Given the description of an element on the screen output the (x, y) to click on. 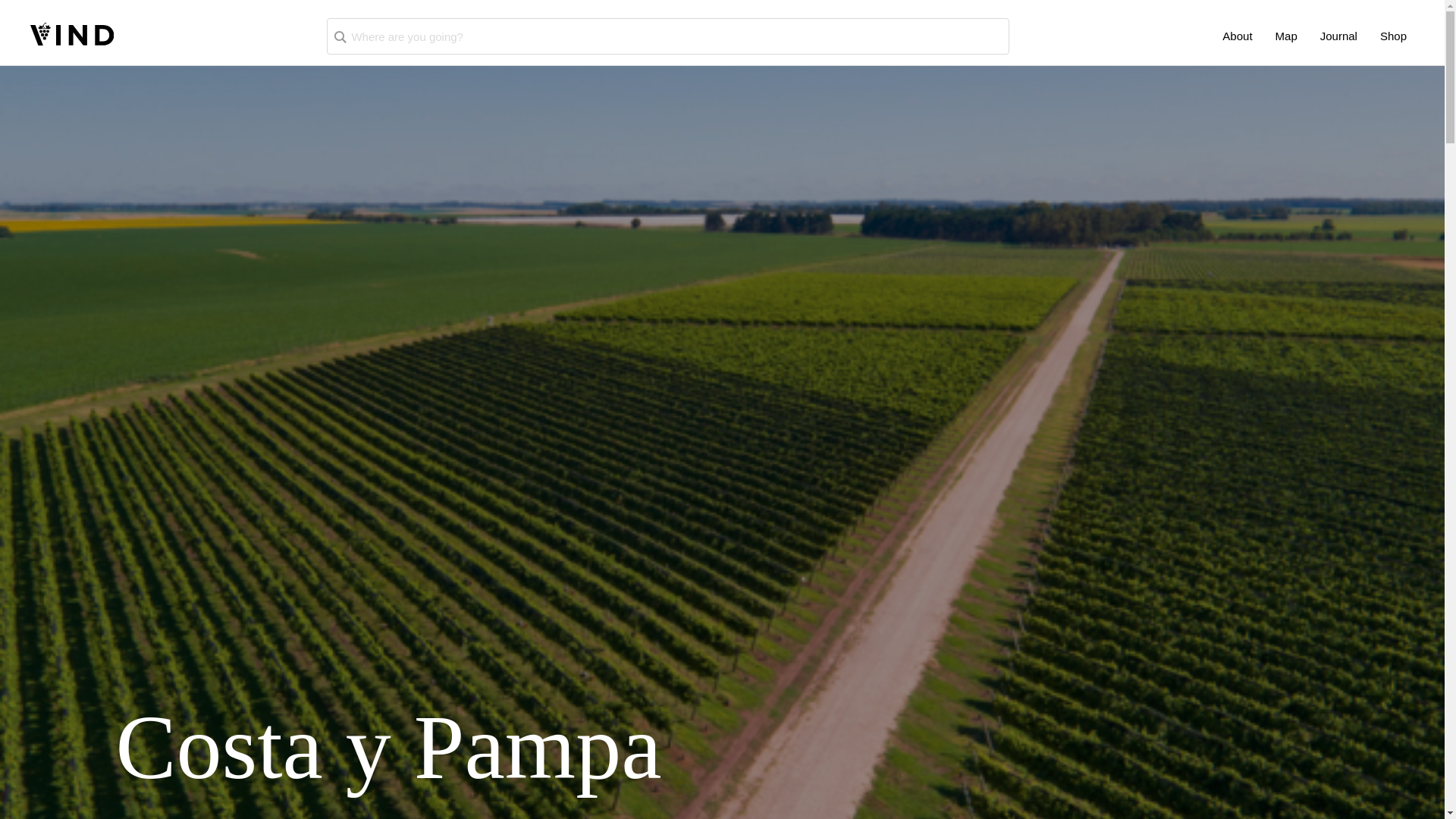
About (1236, 36)
Journal (1339, 36)
Map (1286, 36)
Shop (1393, 36)
